Given the description of an element on the screen output the (x, y) to click on. 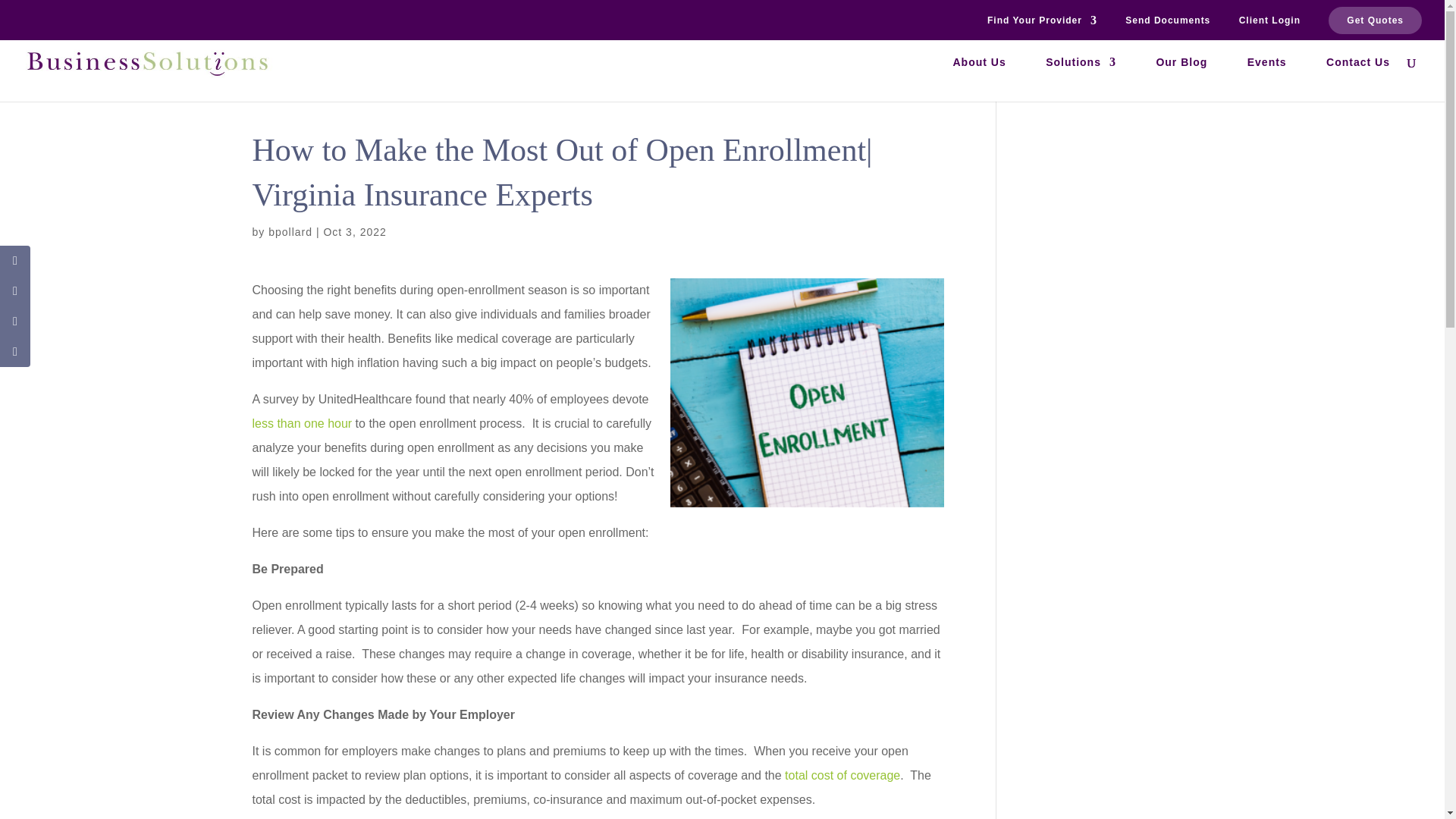
Contact Us (1358, 78)
Get Quotes (1374, 20)
total cost of coverage (841, 775)
Client Login (1269, 23)
less than one hour (301, 422)
About Us (979, 78)
Posts by bpollard (290, 232)
Find Your Provider (1042, 23)
Send Documents (1167, 23)
bpollard (290, 232)
Solutions (1080, 78)
Our Blog (1181, 78)
